Given the description of an element on the screen output the (x, y) to click on. 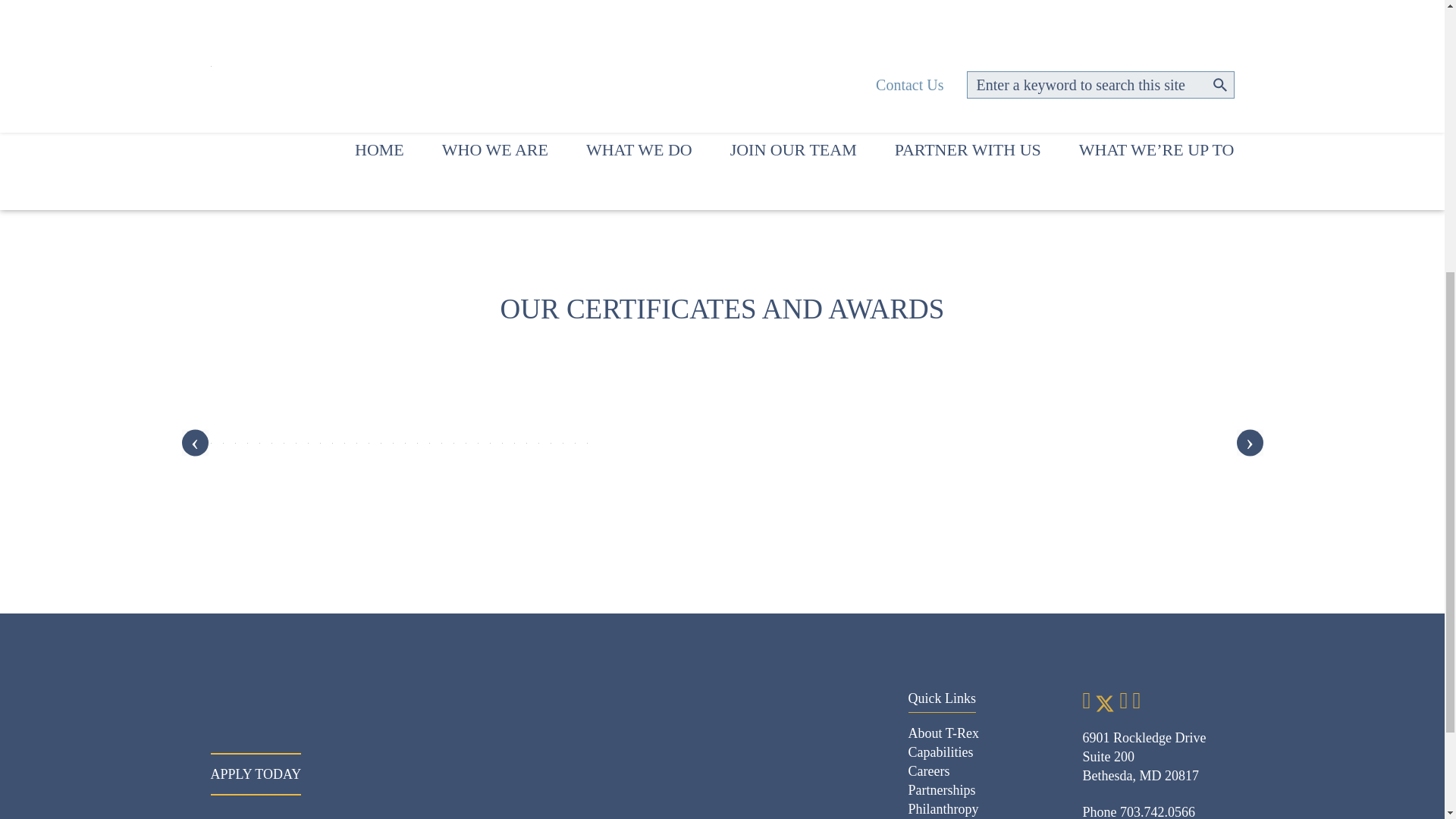
About T-Rex (943, 733)
Careers (929, 770)
Philanthropy (943, 808)
Capabilities (941, 752)
Partnerships (941, 789)
APPLY TODAY (256, 773)
